Given the description of an element on the screen output the (x, y) to click on. 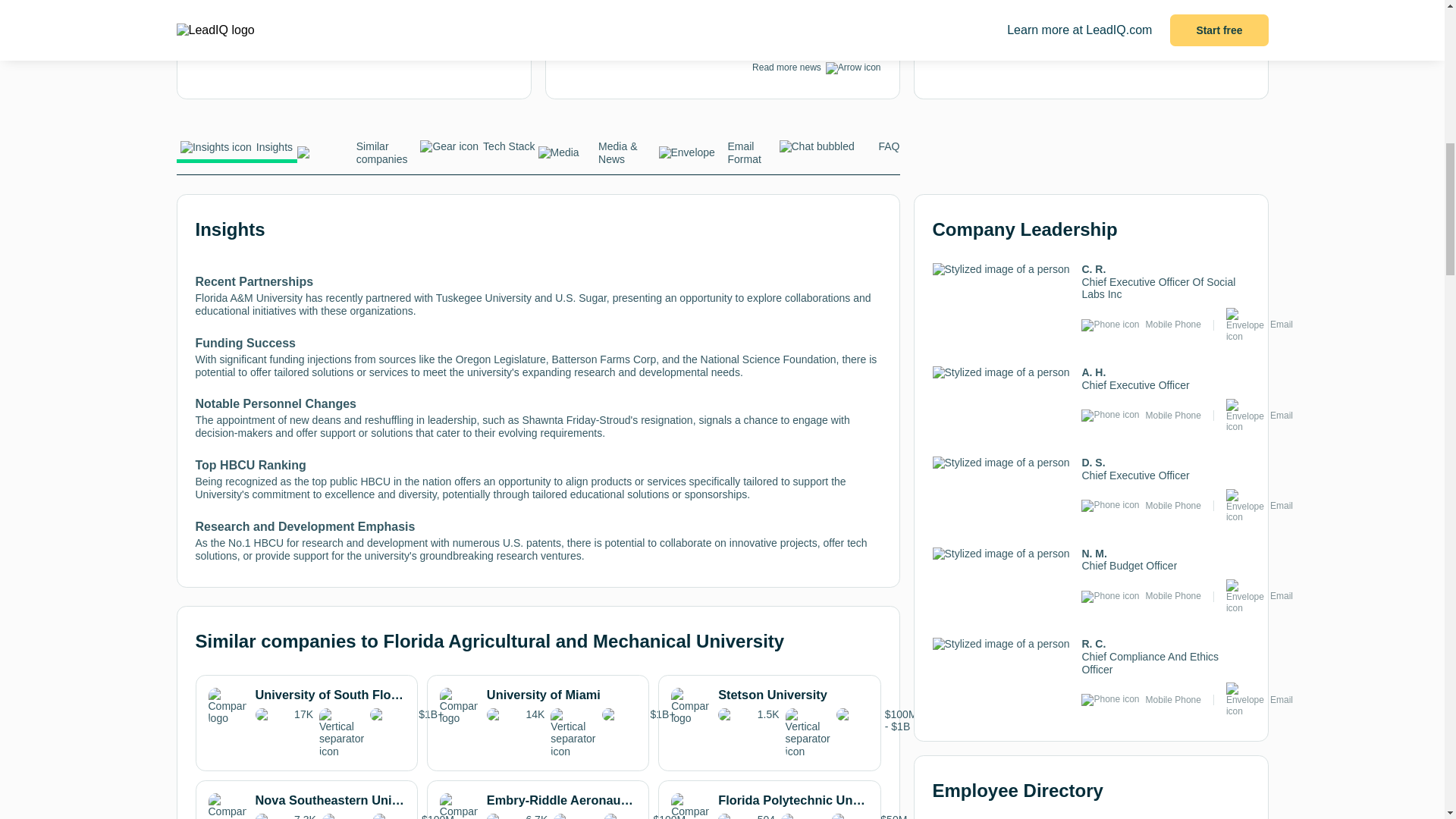
Similar companies (357, 157)
Tech Stack (476, 150)
Insights (236, 151)
FAQ (838, 150)
Email Format (718, 157)
